Given the description of an element on the screen output the (x, y) to click on. 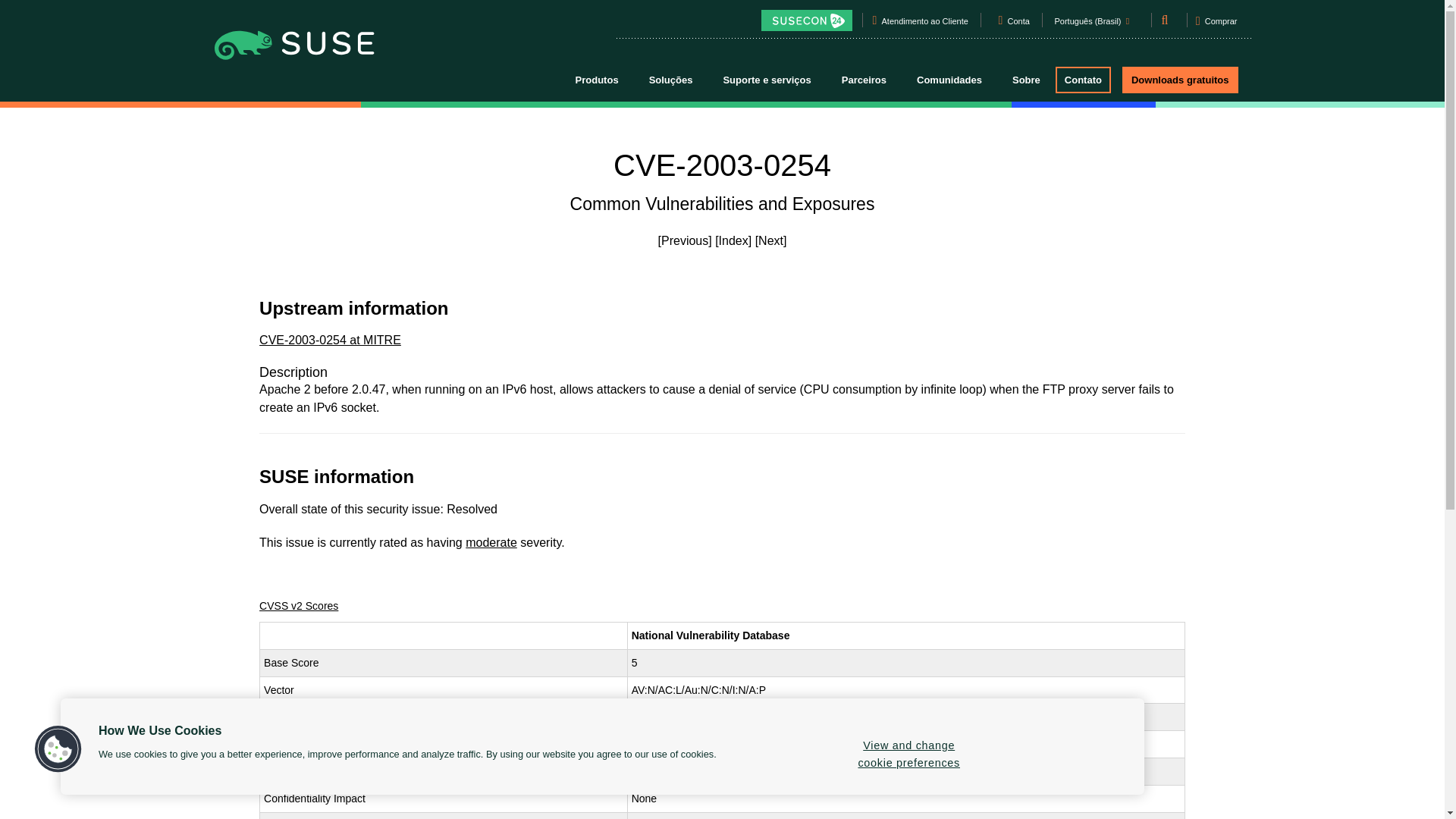
Cookies Button (57, 748)
Comprar (1216, 25)
Atendimento ao Cliente (925, 23)
Conta (1017, 23)
